Given the description of an element on the screen output the (x, y) to click on. 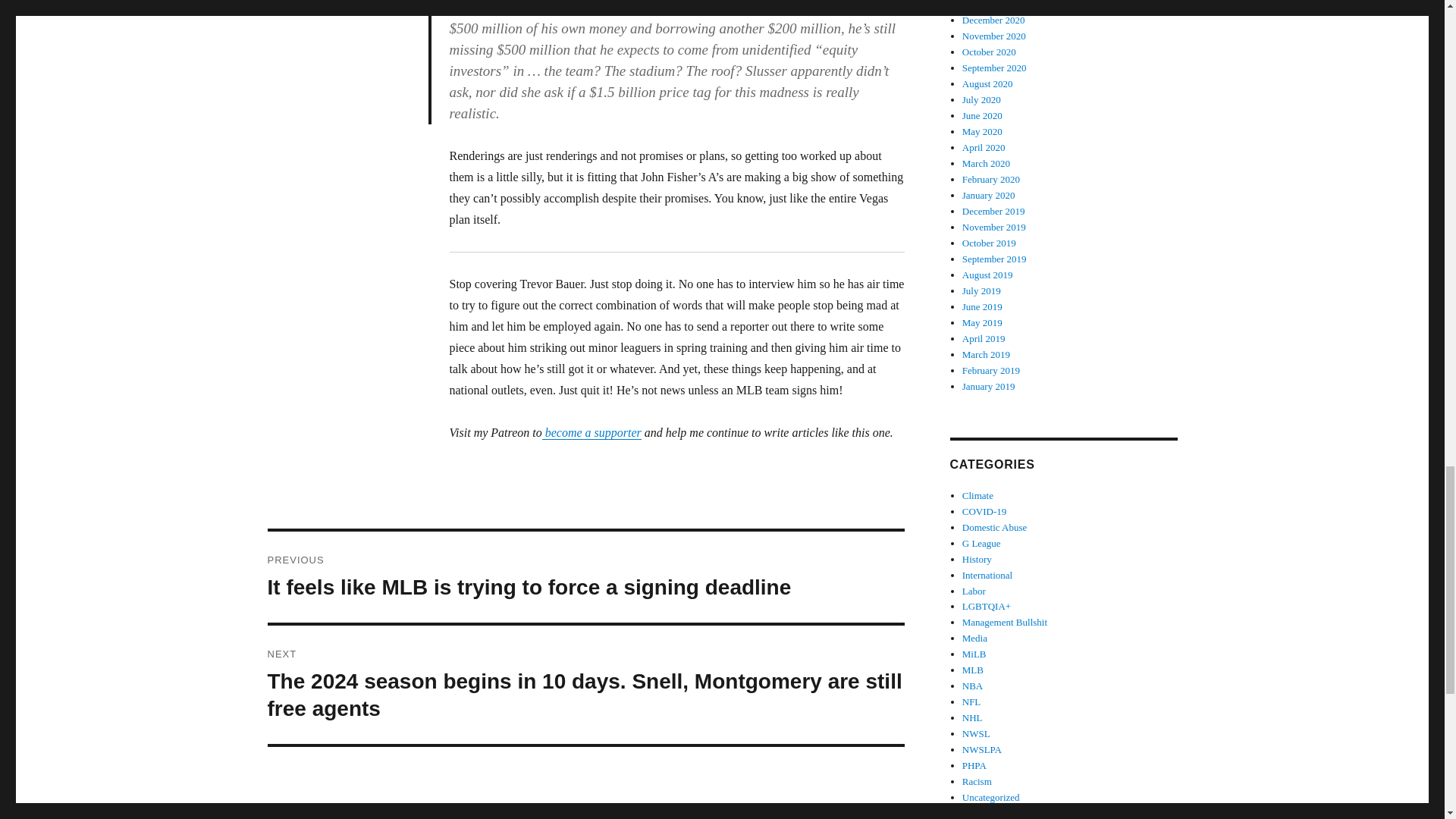
 become a supporter (591, 431)
